Given the description of an element on the screen output the (x, y) to click on. 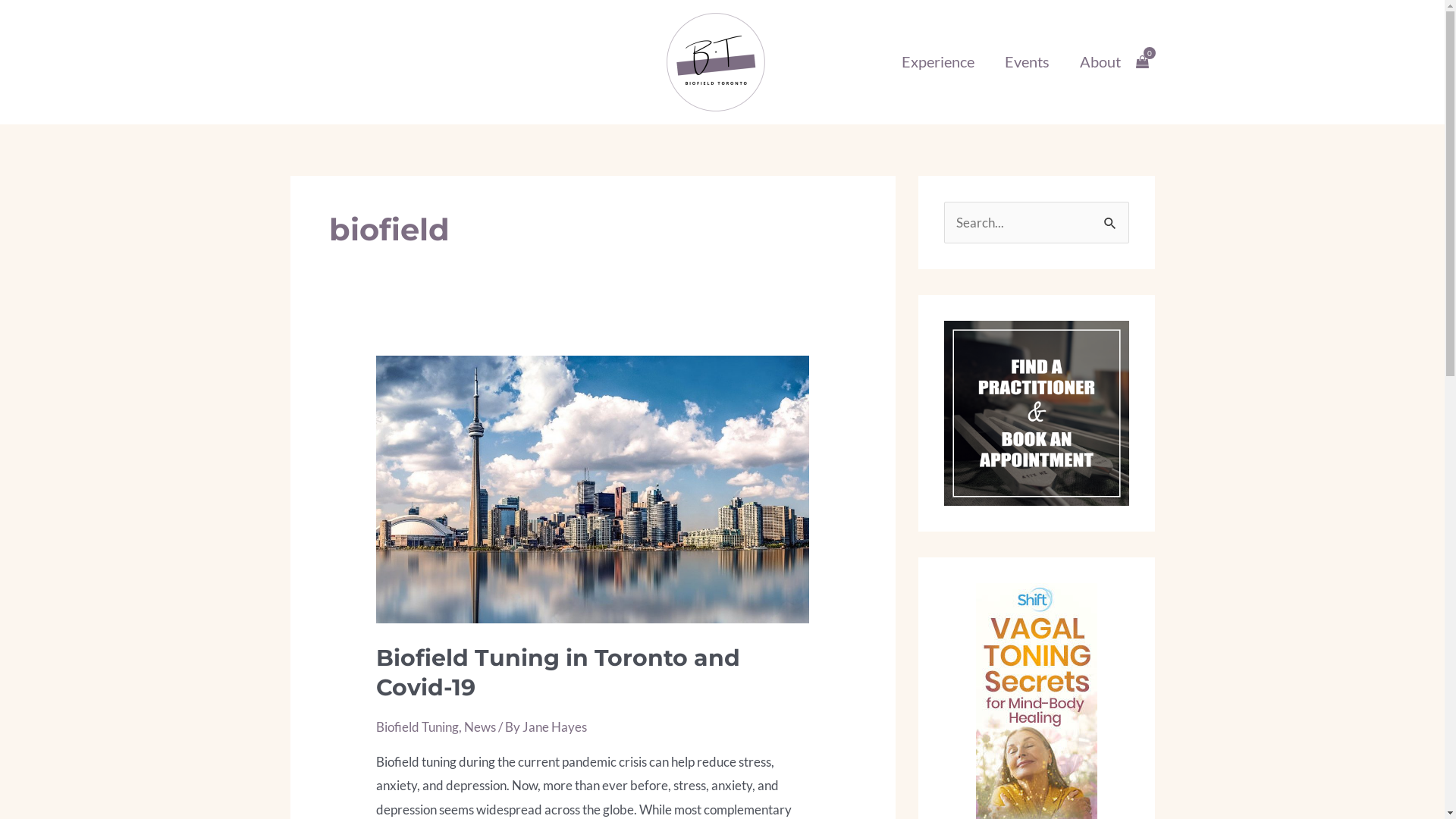
Search Element type: text (1112, 217)
Events Element type: text (1025, 61)
Shift Network Vagal Toning Element type: hover (1035, 808)
Biofield Tuning in Toronto and Covid-19 Element type: text (558, 672)
Jane Hayes Element type: text (554, 726)
News Element type: text (479, 726)
Shop Element type: text (315, 61)
Biofield Tuning Element type: text (417, 726)
About Element type: text (1099, 61)
Experience Element type: text (936, 61)
Book an Appointment Element type: text (434, 61)
